Given the description of an element on the screen output the (x, y) to click on. 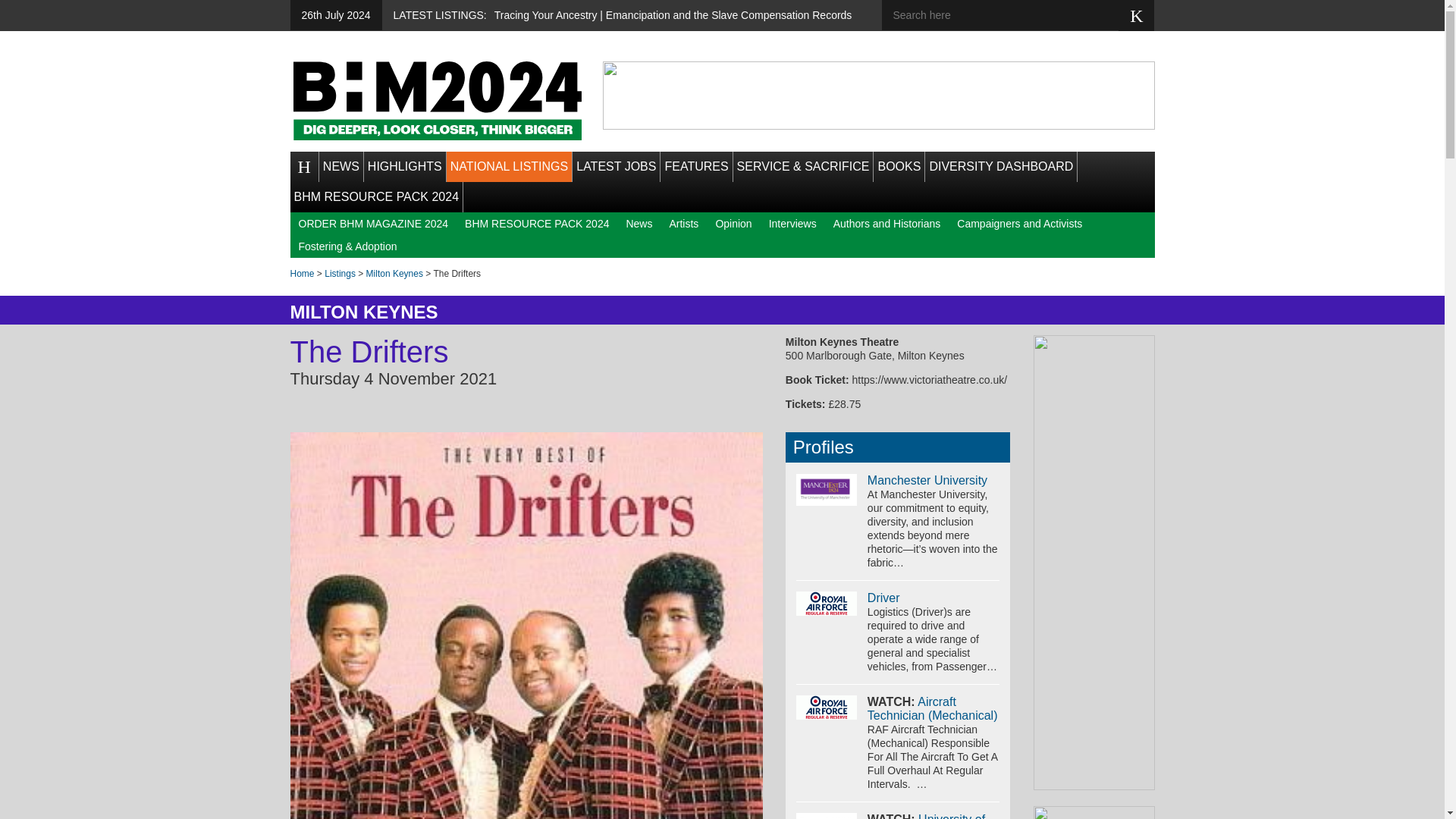
Manchester University (927, 480)
Black History Month 2024: Black History Month 2024 (437, 100)
Manchester University (826, 490)
Driver (883, 597)
University of Derby (826, 816)
Search here (1010, 15)
Driver (826, 603)
